Given the description of an element on the screen output the (x, y) to click on. 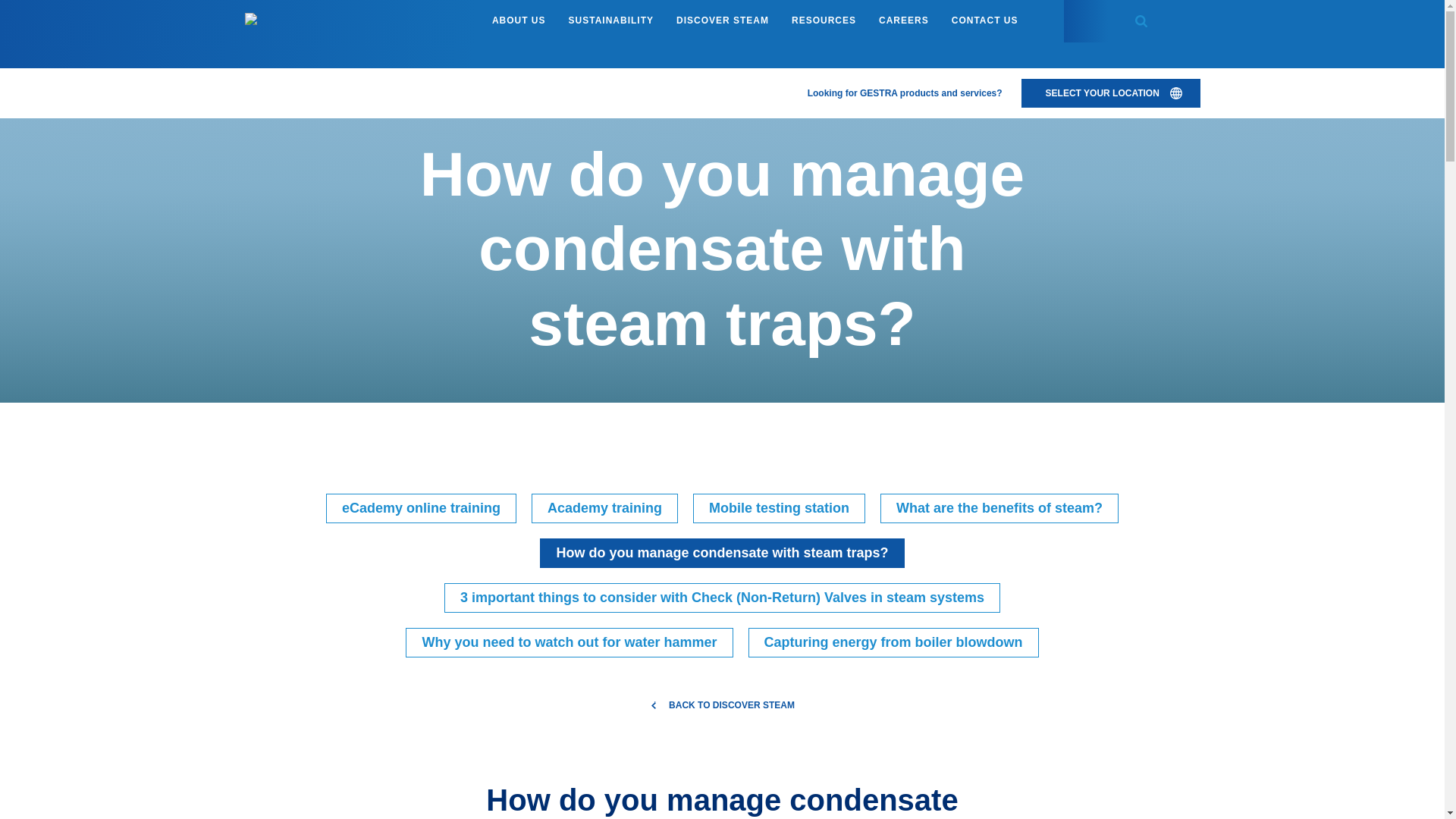
Why you need to watch out for water hammer (569, 642)
DISCOVER STEAM (722, 21)
CONTACT US (984, 21)
How do you manage condensate with steam traps? (722, 553)
CAREERS (903, 21)
DISCOVER STEAM (295, 80)
What are the benefits of steam? (999, 508)
Mobile testing station (778, 508)
Capturing energy from boiler blowdown (893, 642)
eCademy online training (421, 508)
